Given the description of an element on the screen output the (x, y) to click on. 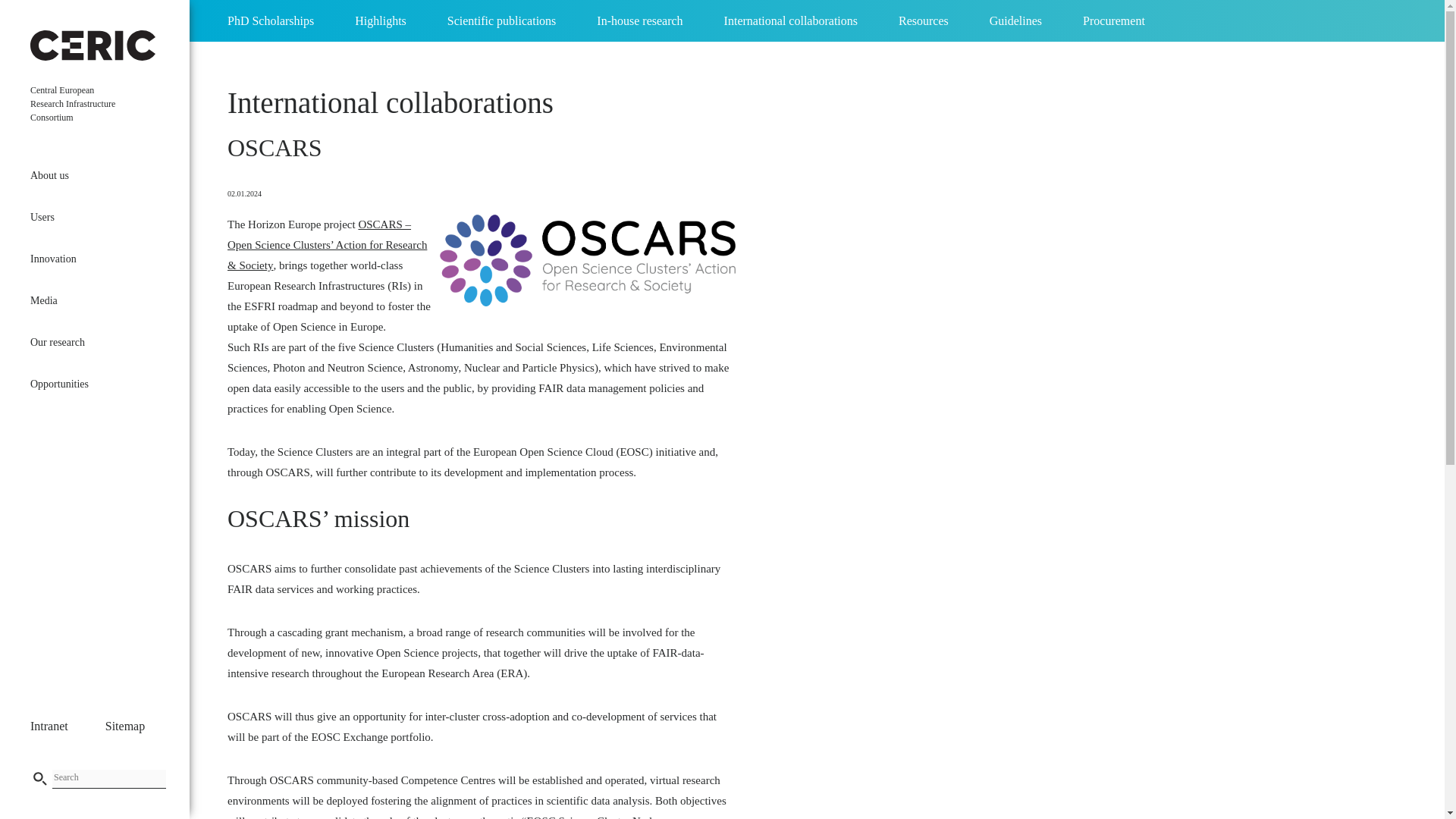
News (87, 114)
Services for EIC beneficiaries (87, 289)
Our research (94, 342)
Governance (87, 222)
Review Panel (87, 472)
Publications (87, 281)
International collaborations (390, 102)
Users (94, 217)
Accommodation (87, 556)
Events (87, 155)
